Given the description of an element on the screen output the (x, y) to click on. 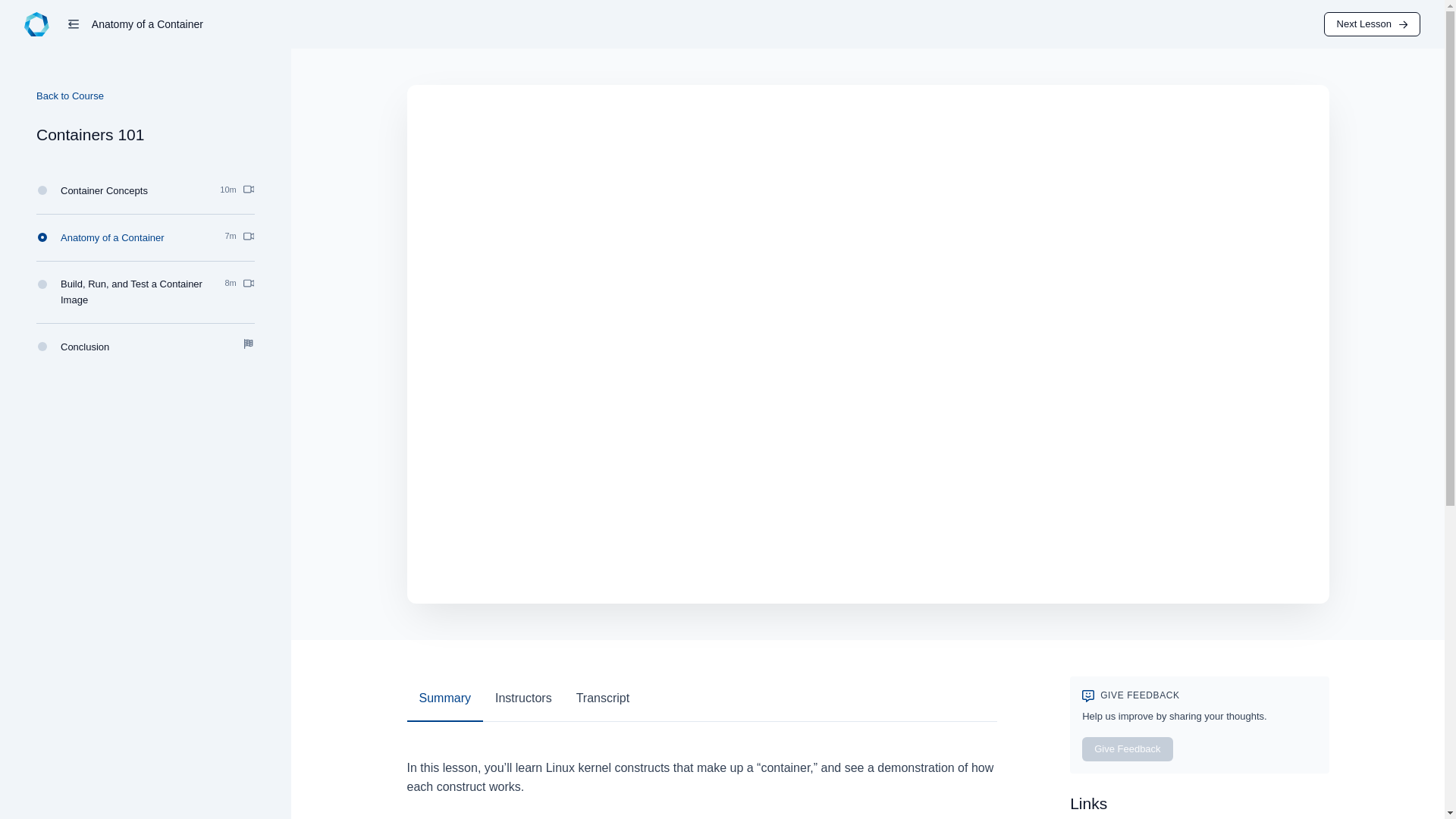
Give Feedback (145, 190)
Summary (145, 237)
Next Lesson (1126, 749)
Transcript (145, 292)
Instructors (443, 698)
Back to Course (145, 346)
